Given the description of an element on the screen output the (x, y) to click on. 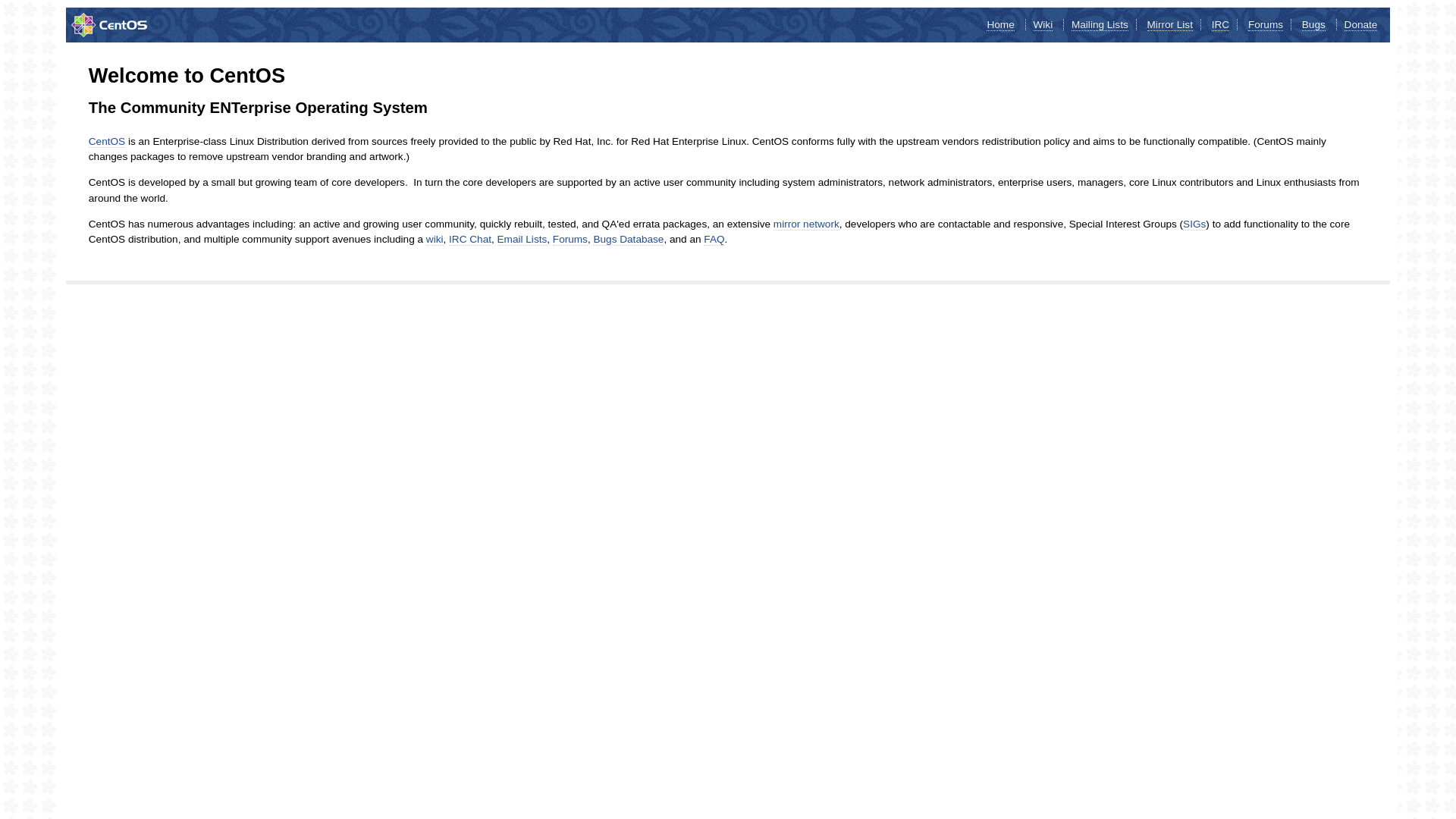
mirror network Element type: text (806, 224)
FAQ Element type: text (713, 239)
IRC Element type: text (1220, 24)
Mailing Lists Element type: text (1099, 24)
wiki Element type: text (434, 239)
Forums Element type: text (569, 239)
Donate Element type: text (1360, 24)
Wiki Element type: text (1042, 24)
Forums Element type: text (1265, 24)
IRC Chat Element type: text (469, 239)
Bugs Database Element type: text (628, 239)
SIGs Element type: text (1194, 224)
Email Lists Element type: text (522, 239)
CentOS Element type: text (106, 141)
Home Element type: text (999, 24)
Bugs Element type: text (1313, 24)
Mirror List Element type: text (1169, 24)
